Given the description of an element on the screen output the (x, y) to click on. 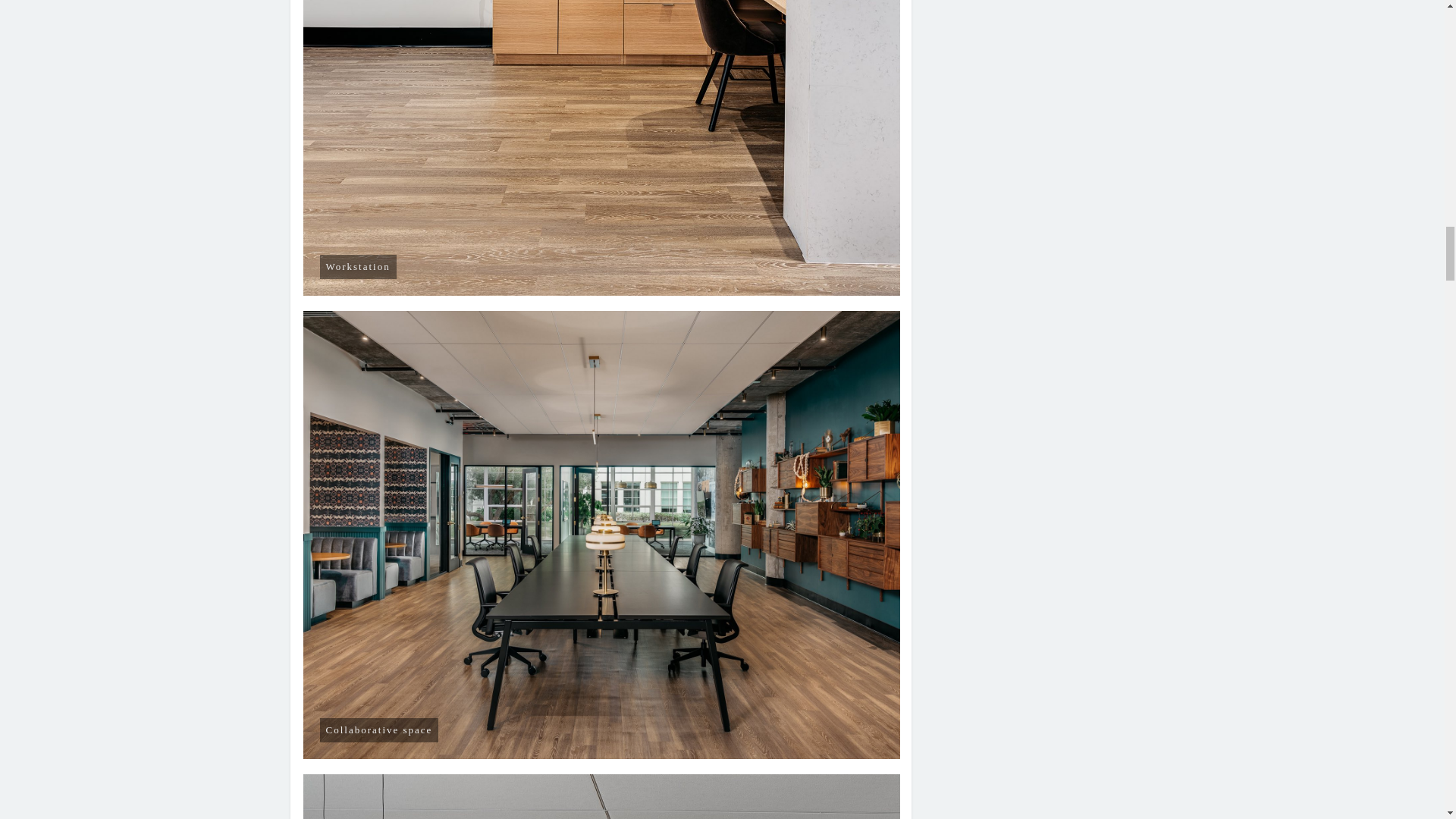
Collaborative space (601, 796)
